Given the description of an element on the screen output the (x, y) to click on. 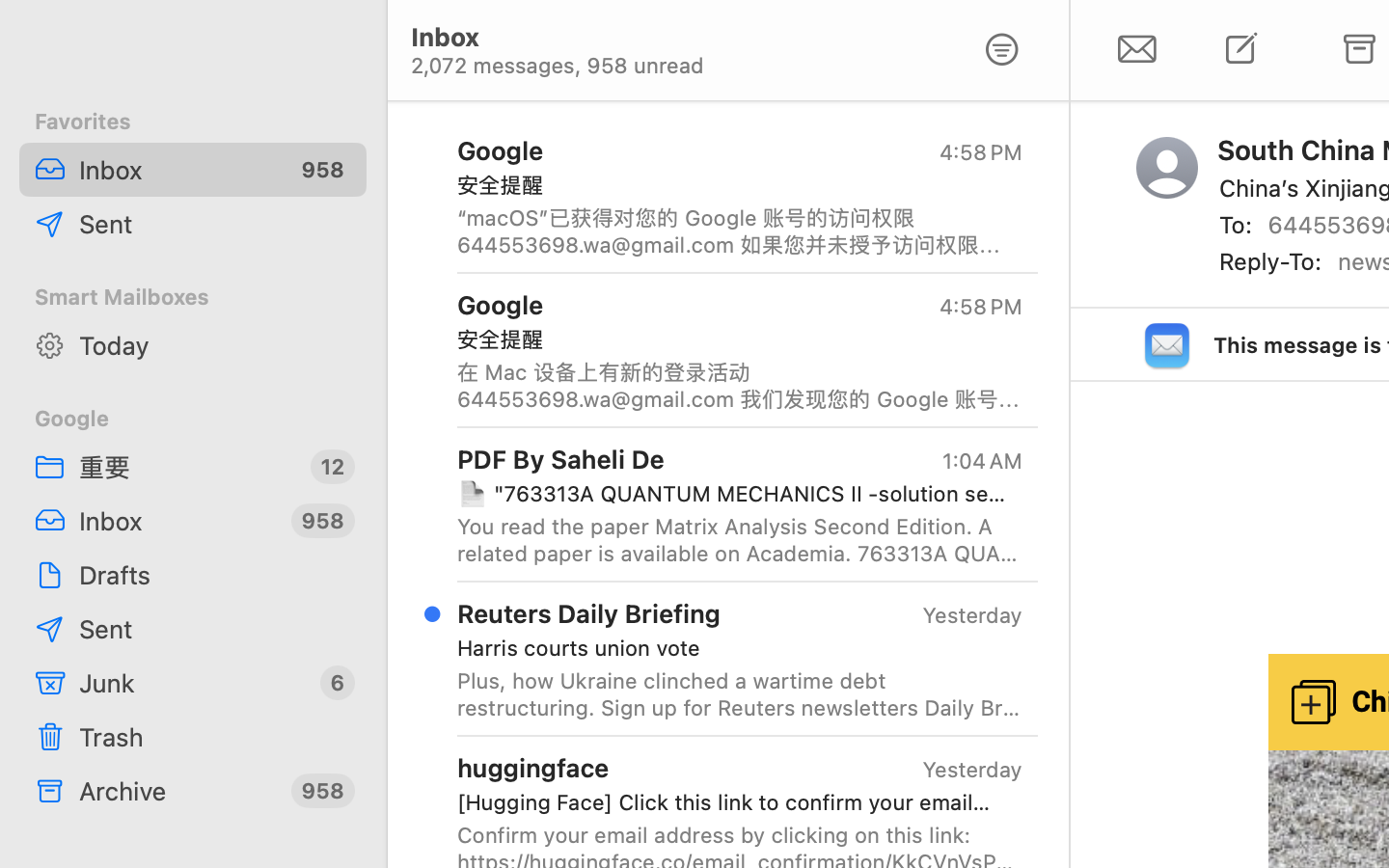
Google Element type: AXStaticText (192, 418)
0.0 Element type: AXValueIndicator (1056, 127)
重要 Element type: AXTextField (187, 466)
You read the paper Matrix Analysis Second Edition. A related paper is available on Academia. 763313A QUANTUM MECHANICS II -solution set 2 -spring 2014 Saheli De 237 Views View PDF ▸ Download PDF ⬇ Your recent reading history: Matrix Analysis Second Edition - Benedict Cui Want fewer recommendations like this one? 580 California St., Suite 400, San Francisco, CA, 94104 Unsubscribe Privacy Policy Terms of Service © 2024 Academia Element type: AXStaticText (739, 540)
在 Mac 设备上有新的登录活动 644553698.wa@gmail.com 我们发现您的 Google 账号在一部 Mac 设备上有新的登录活动。如果这是您本人的操作，那么您无需采取任何行动。如果这不是您本人的操作，我们会帮助您保护您的账号。 查看活动 您也可以访问以下网址查看安全性活动： https://myaccount.google.com/notifications 我们向您发送这封电子邮件，目的是让您了解关于您的 Google 账号和服务的重大变化。 © 2024 Google LLC, 1600 Amphitheatre Parkway, Mountain View, CA 94043, USA Element type: AXStaticText (739, 385)
